Given the description of an element on the screen output the (x, y) to click on. 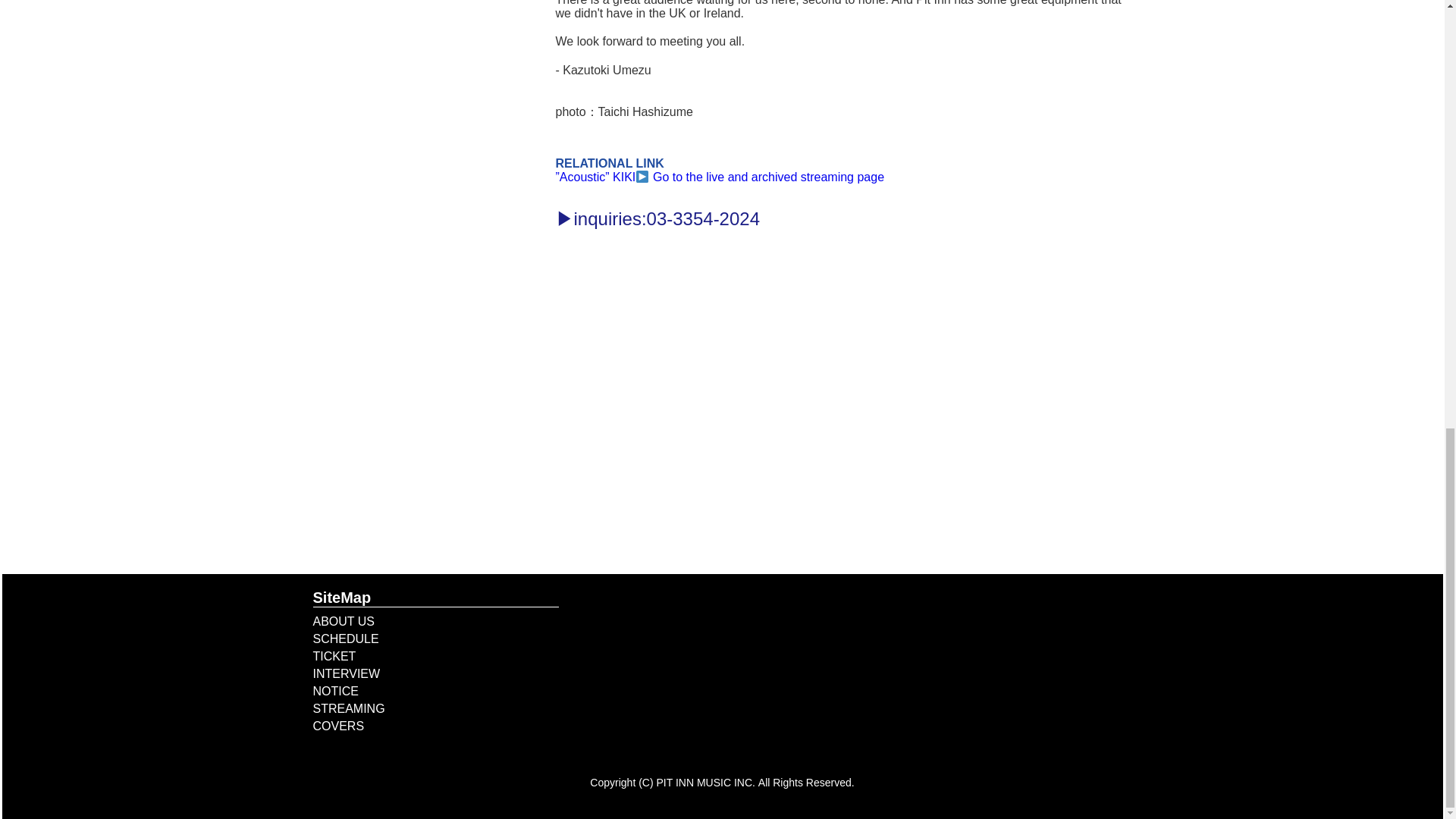
NOTICE (335, 690)
STREAMING (348, 707)
ABOUT US (343, 621)
COVERS (338, 725)
INTERVIEW (346, 673)
TICKET (334, 656)
SCHEDULE (345, 638)
